Given the description of an element on the screen output the (x, y) to click on. 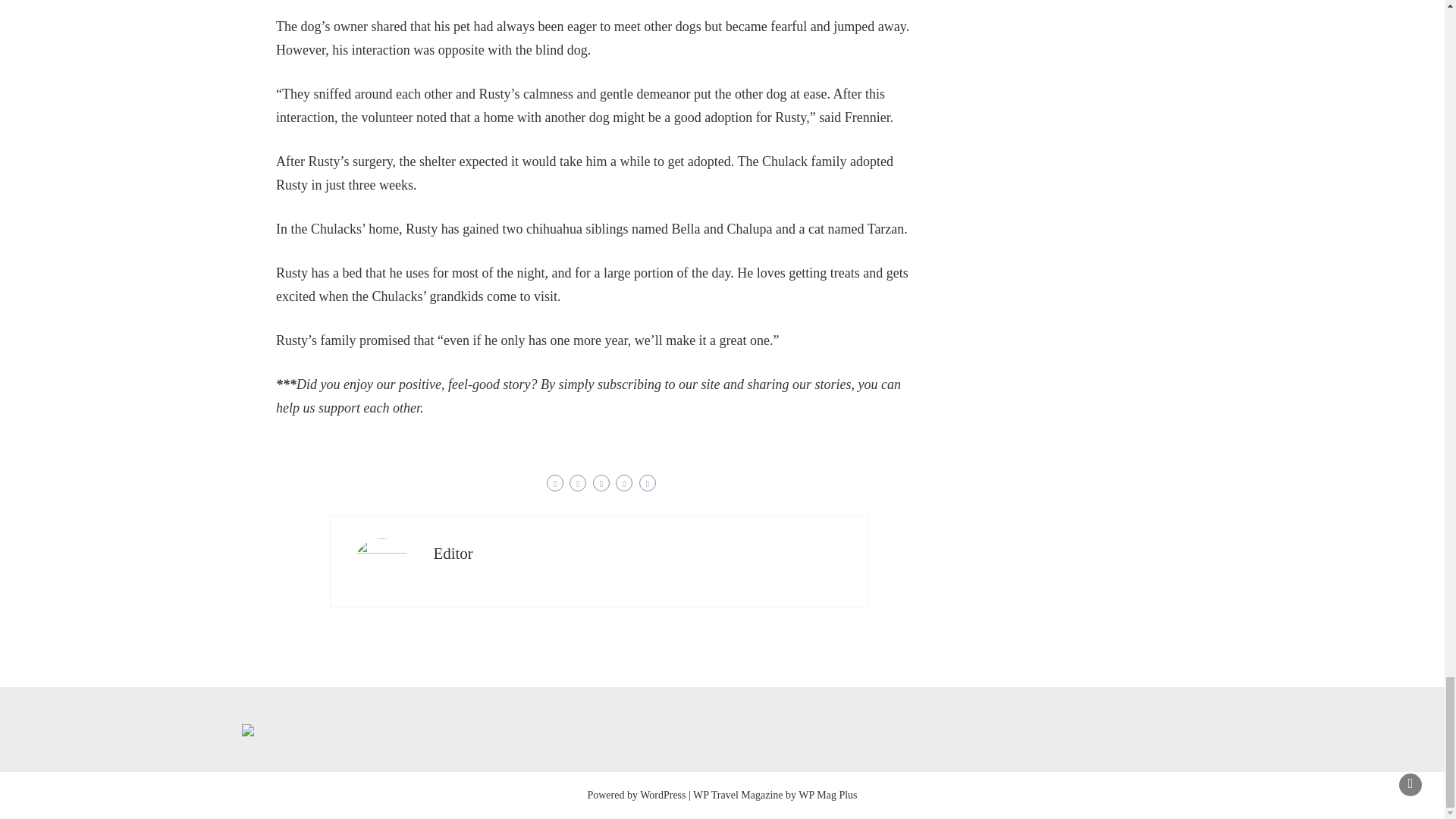
WP Travel Magazine by WP Mag Plus (775, 794)
Editor (452, 553)
WordPress (662, 794)
